Given the description of an element on the screen output the (x, y) to click on. 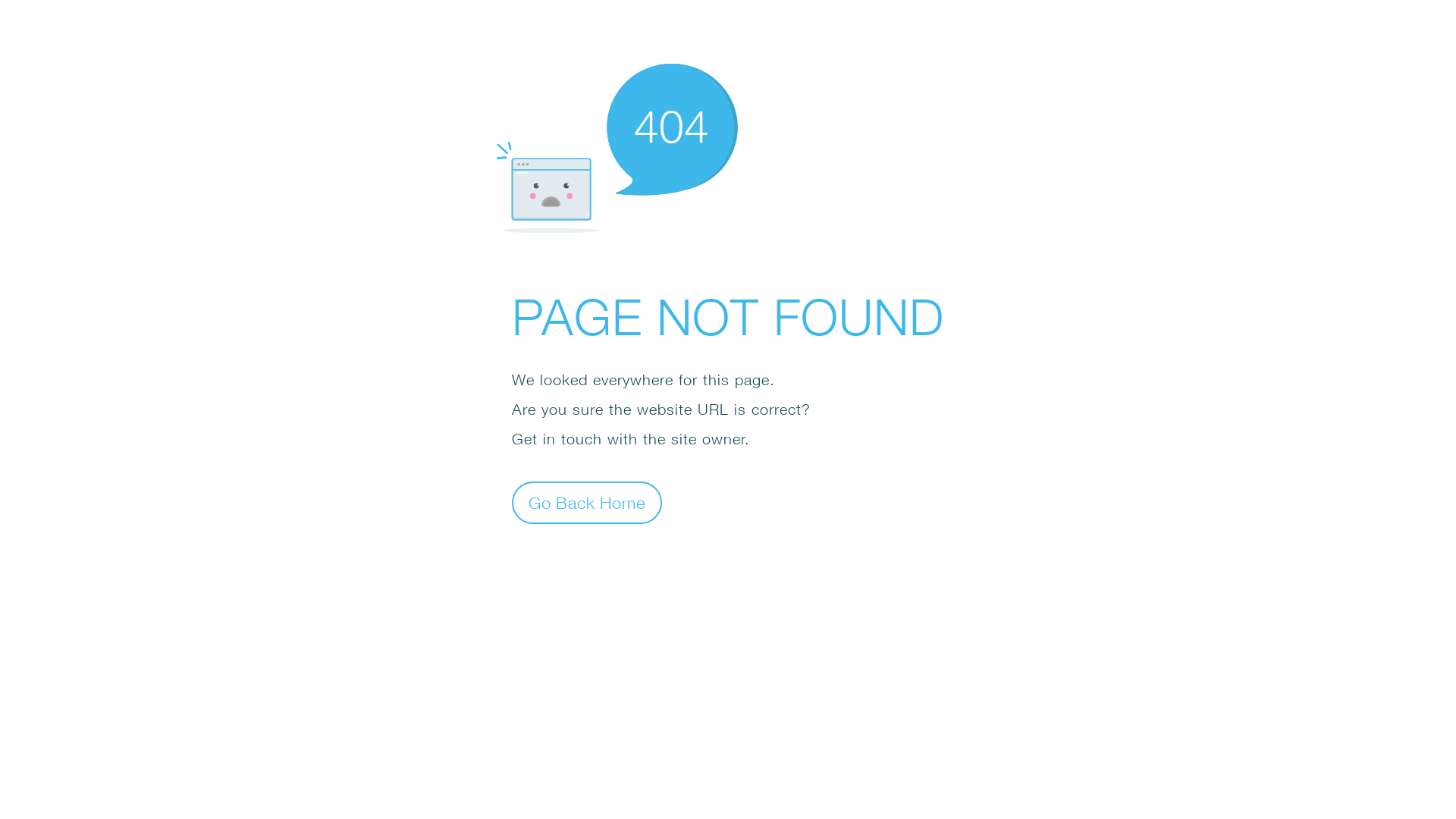
Go Back Home Element type: text (586, 502)
